Given the description of an element on the screen output the (x, y) to click on. 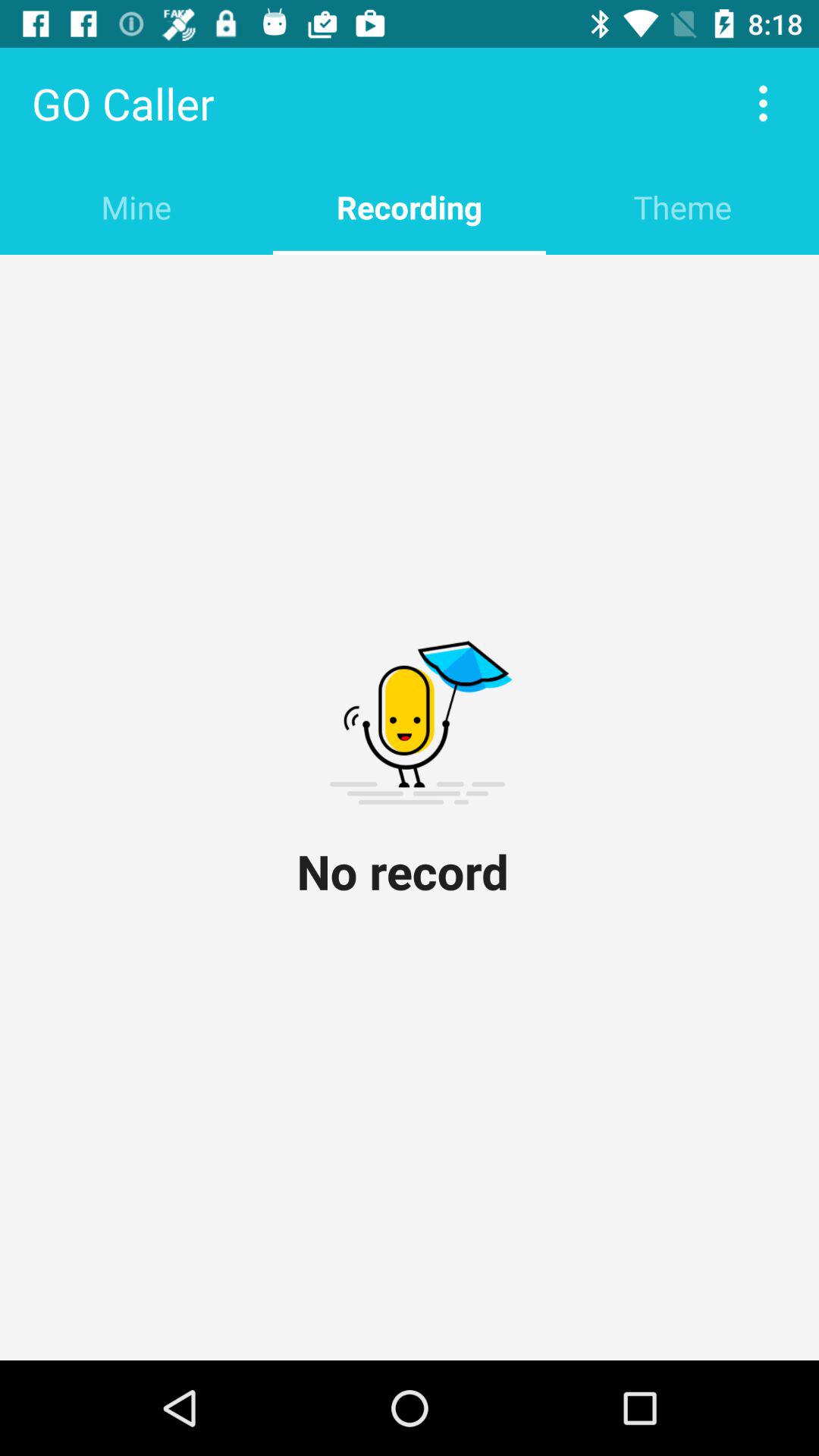
tap icon to the right of the mine item (409, 206)
